Given the description of an element on the screen output the (x, y) to click on. 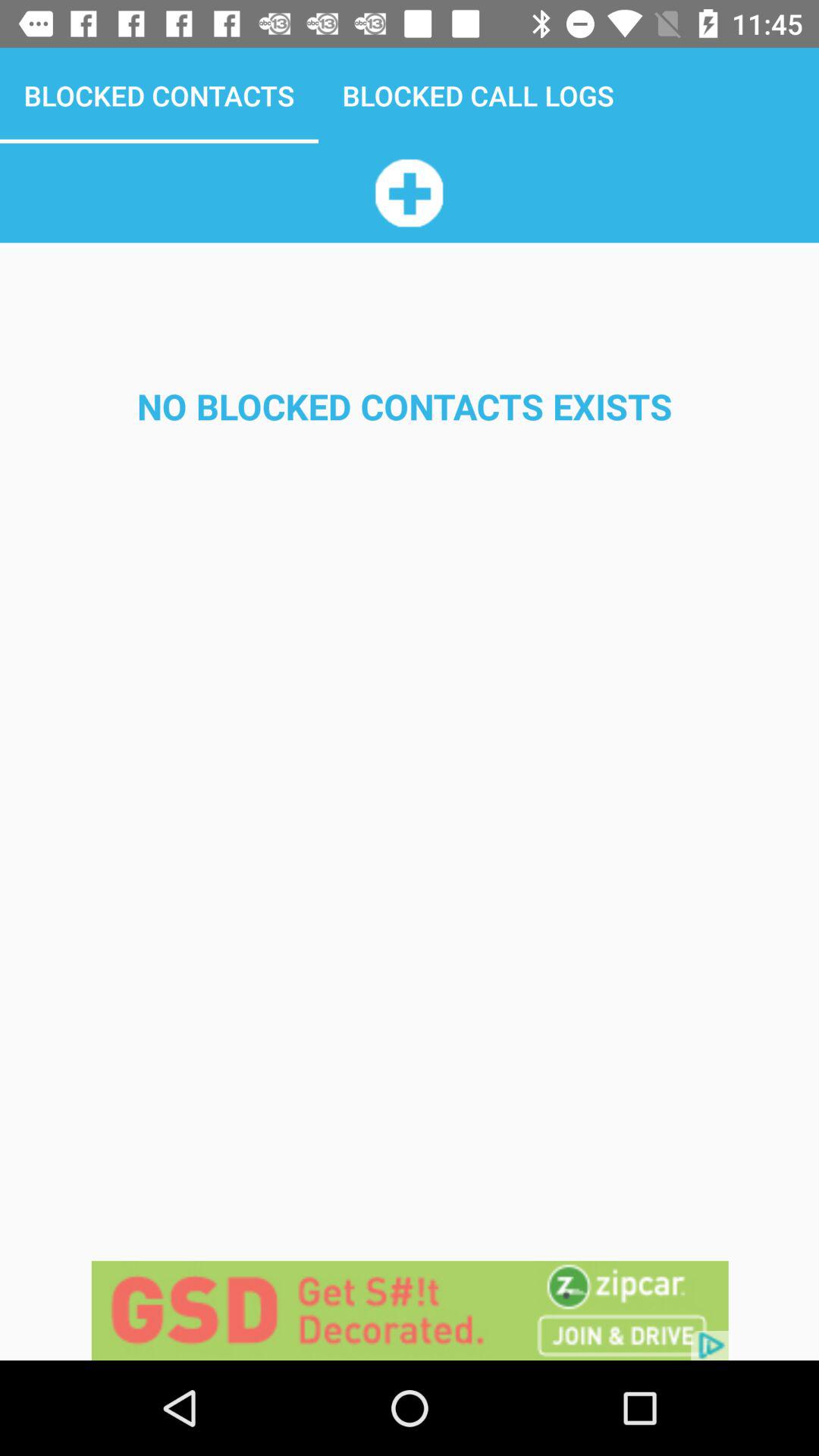
advertisement option (409, 1310)
